Given the description of an element on the screen output the (x, y) to click on. 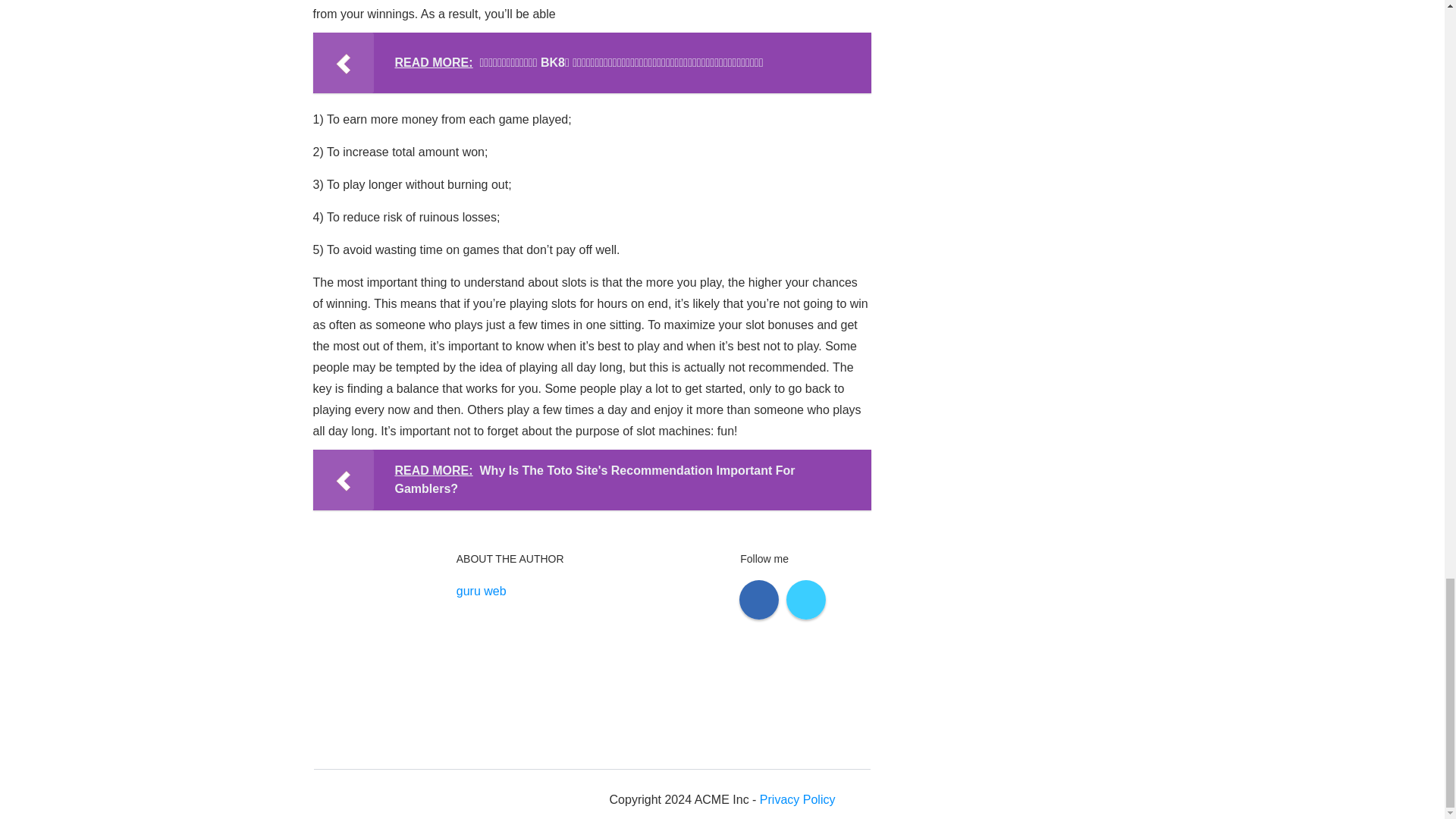
guru web (481, 590)
